Given the description of an element on the screen output the (x, y) to click on. 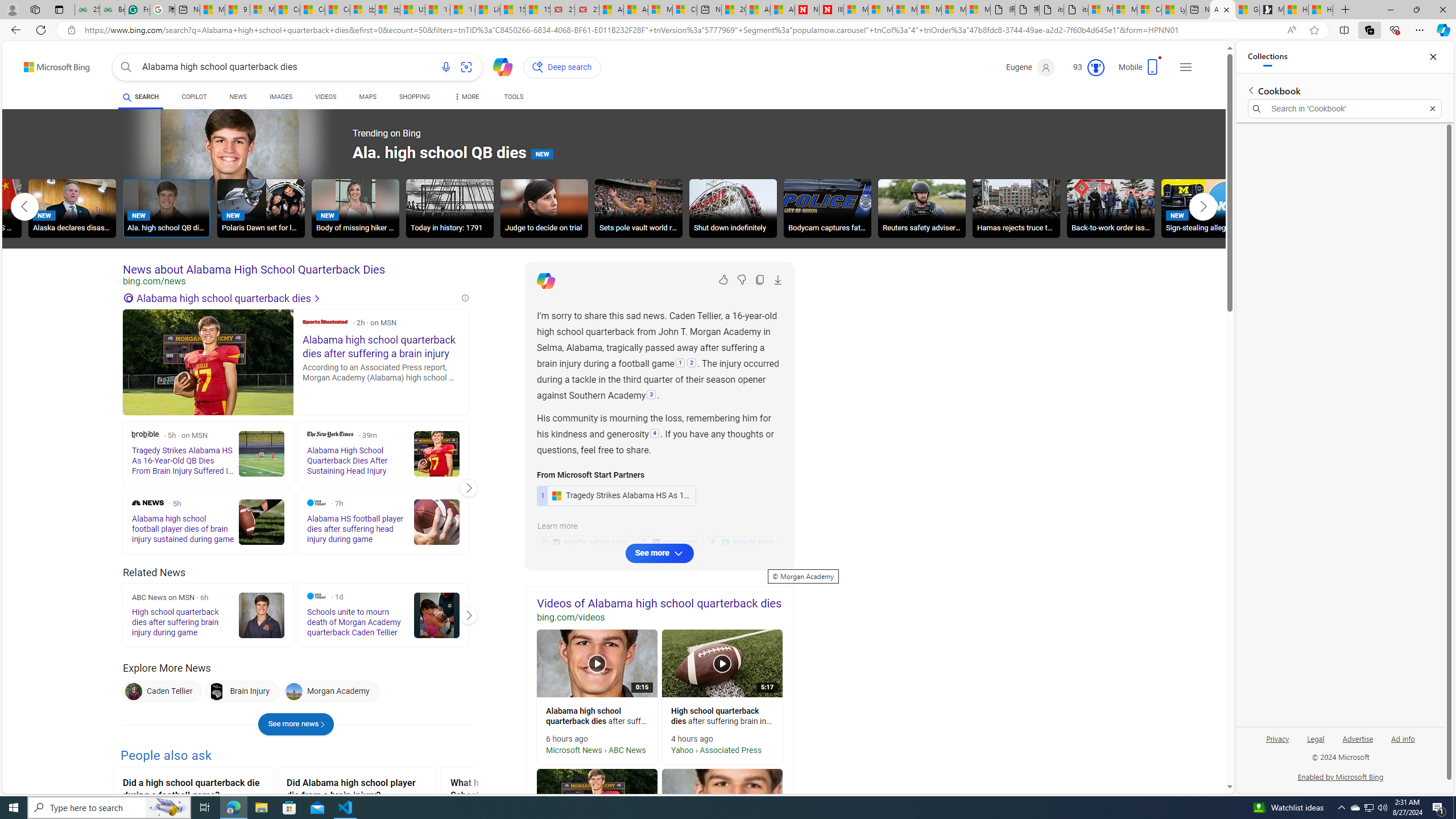
Morgan Academy (330, 691)
TOOLS (512, 98)
Caden Tellier Caden Tellier (162, 691)
MAPS (367, 98)
Hamas rejects truce terms (1015, 209)
AutomationID: tob_right_arrow (1203, 206)
Caden Tellier (133, 691)
Judge to decide on trial (544, 209)
Alabama high school quarterback dies (291, 298)
Bodycam captures fatal shot (826, 207)
Sets pole vault world record (638, 207)
